Given the description of an element on the screen output the (x, y) to click on. 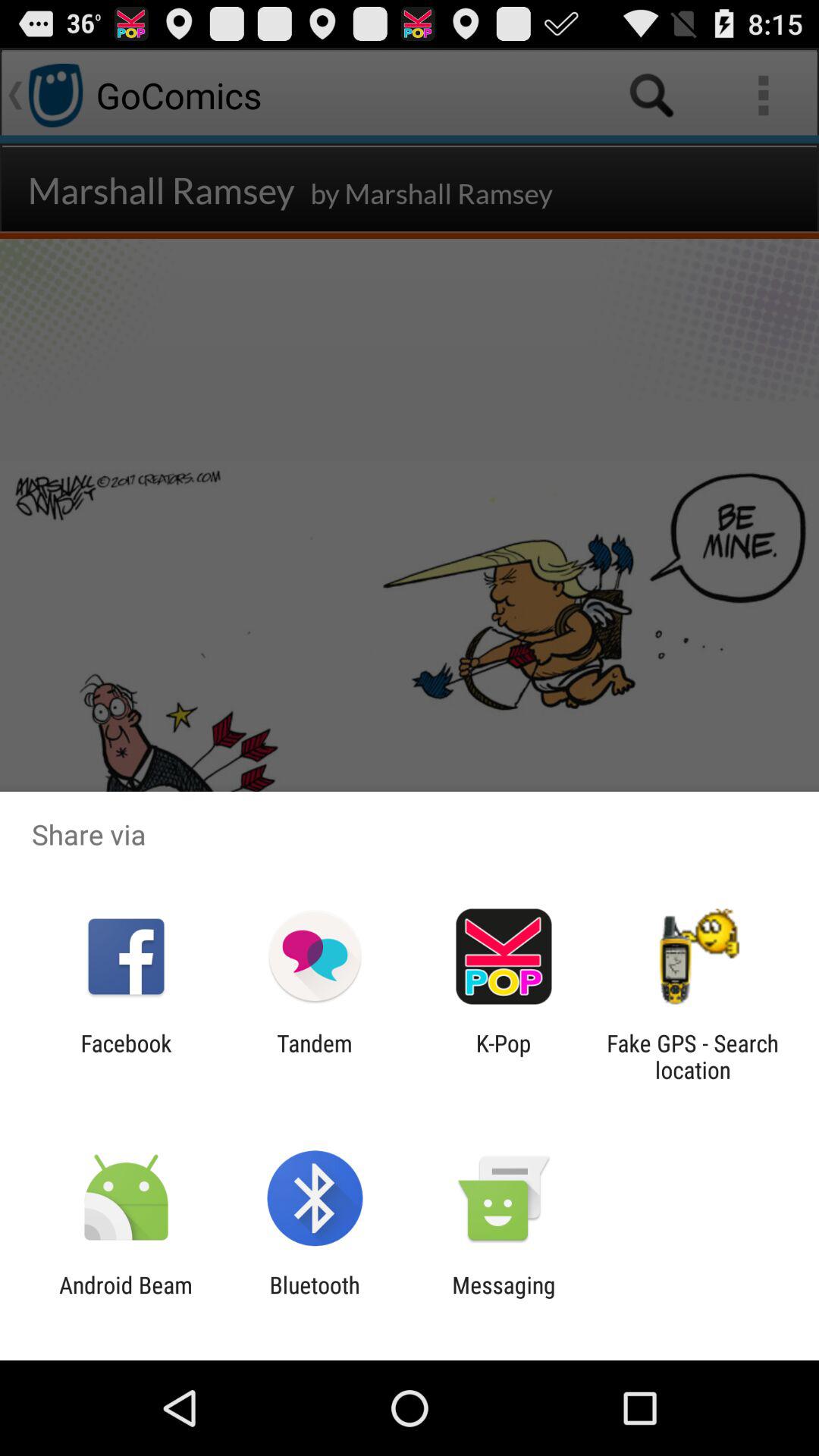
jump to messaging item (503, 1298)
